Given the description of an element on the screen output the (x, y) to click on. 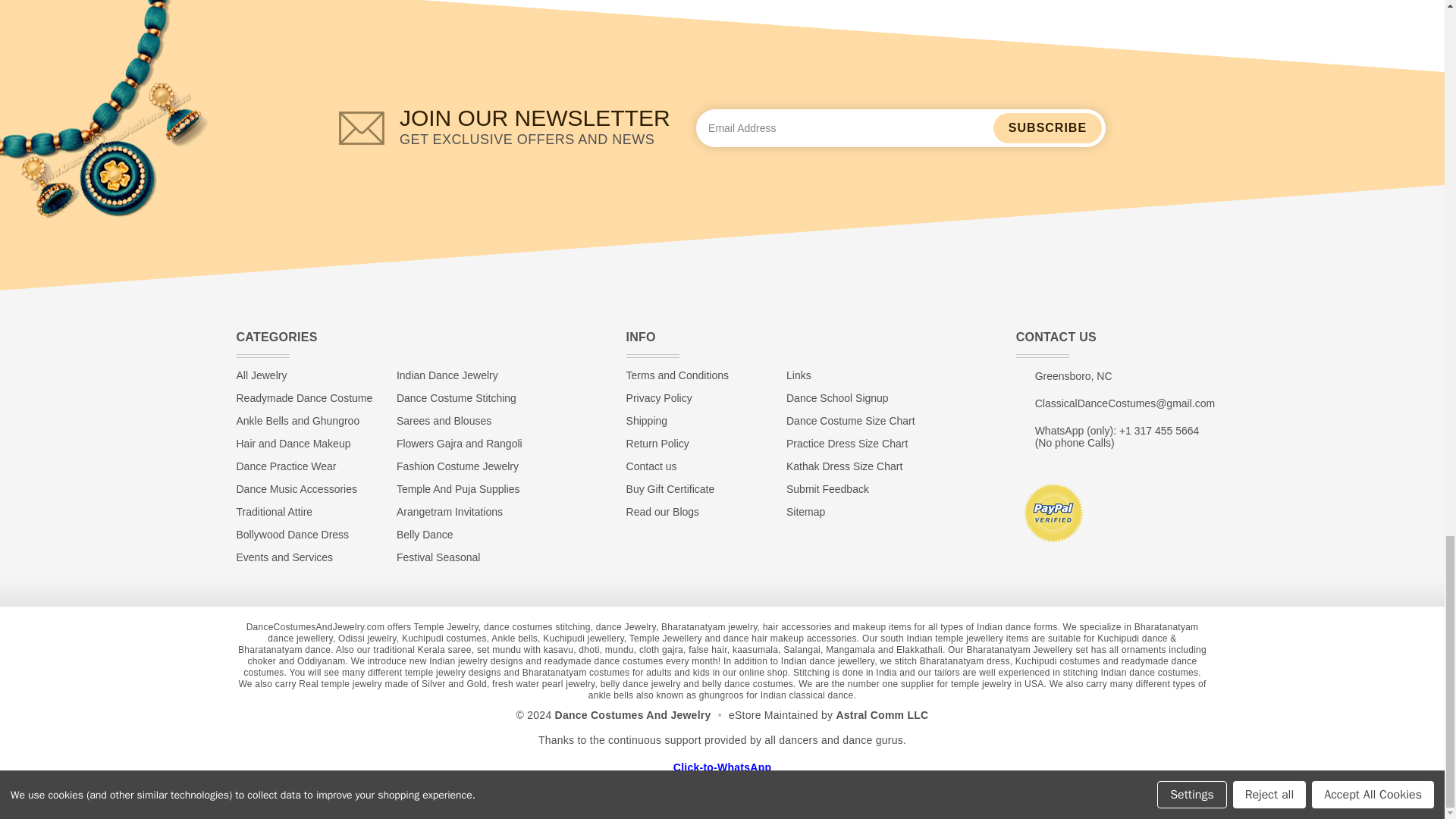
Subscribe (1047, 128)
